Given the description of an element on the screen output the (x, y) to click on. 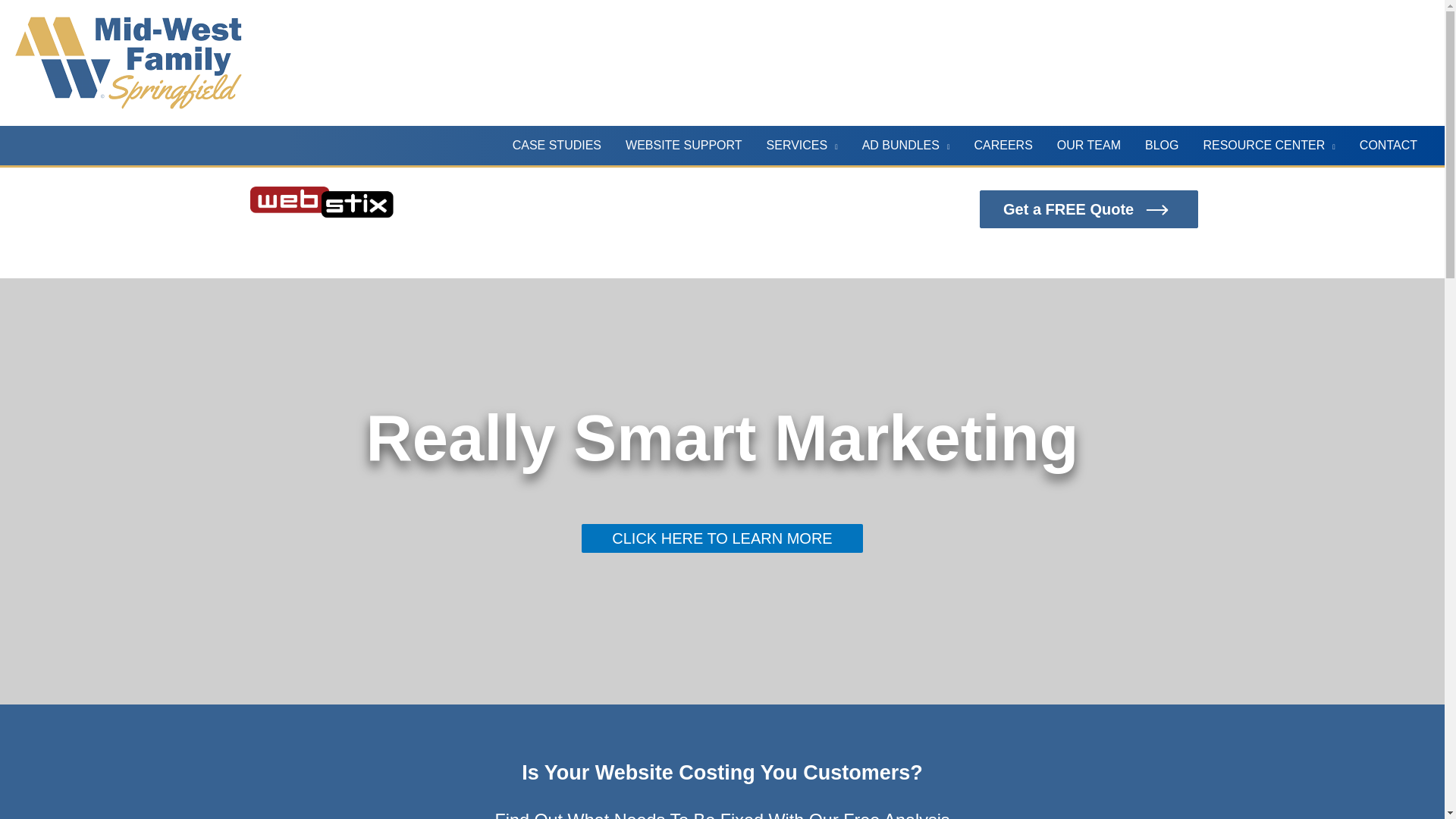
BLOG (1161, 145)
CAREERS (1001, 145)
CASE STUDIES (556, 145)
WEBSITE SUPPORT (683, 145)
Click Here (720, 538)
RESOURCE CENTER (1268, 145)
AD BUNDLES (906, 145)
Click Here (1088, 209)
OUR TEAM (1088, 145)
SERVICES (802, 145)
